Given the description of an element on the screen output the (x, y) to click on. 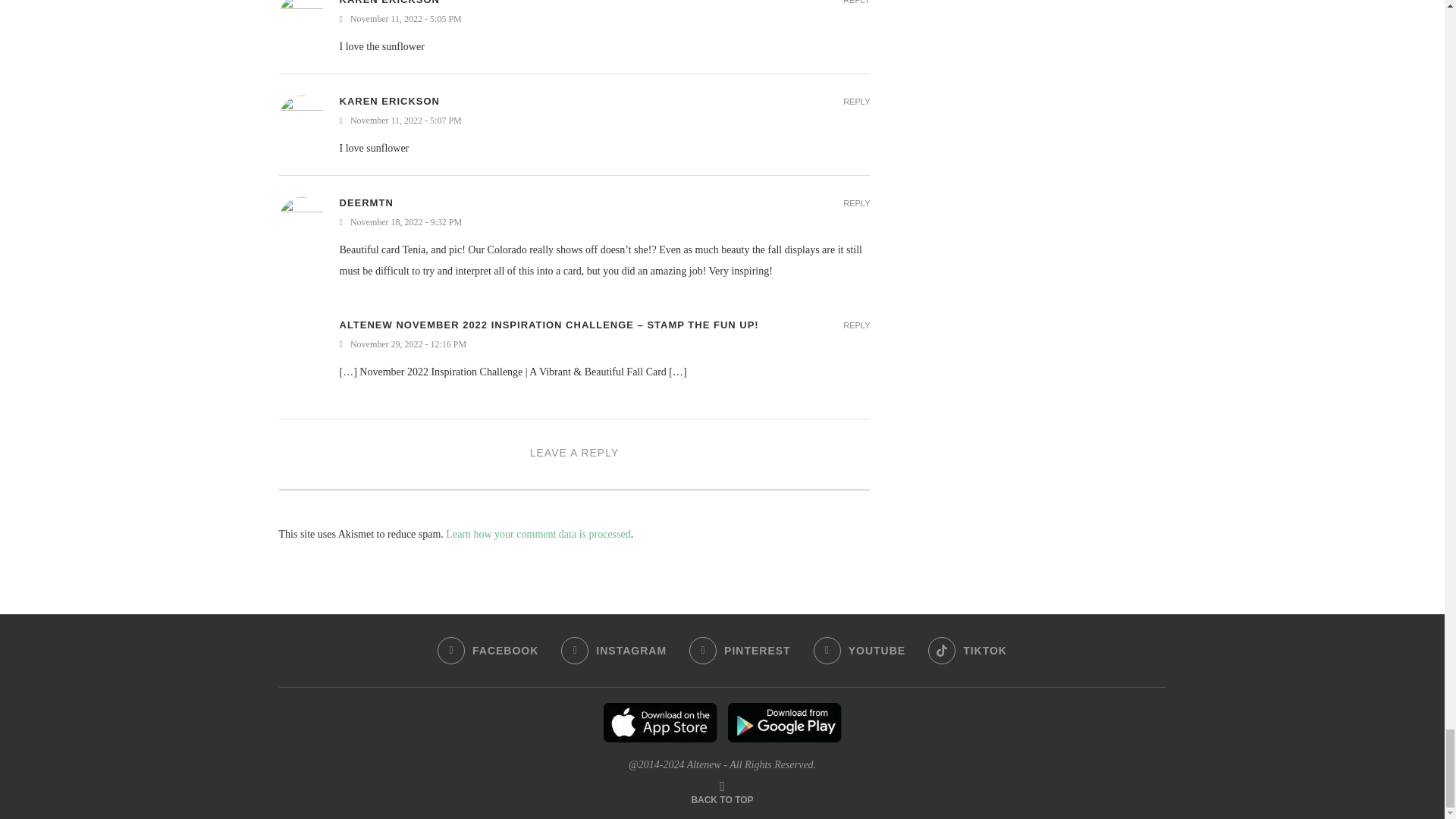
Friday, November 18, 2022, 9:32 pm (604, 222)
Tuesday, November 29, 2022, 12:16 pm (604, 344)
Friday, November 11, 2022, 5:05 pm (604, 19)
Friday, November 11, 2022, 5:07 pm (604, 120)
